Given the description of an element on the screen output the (x, y) to click on. 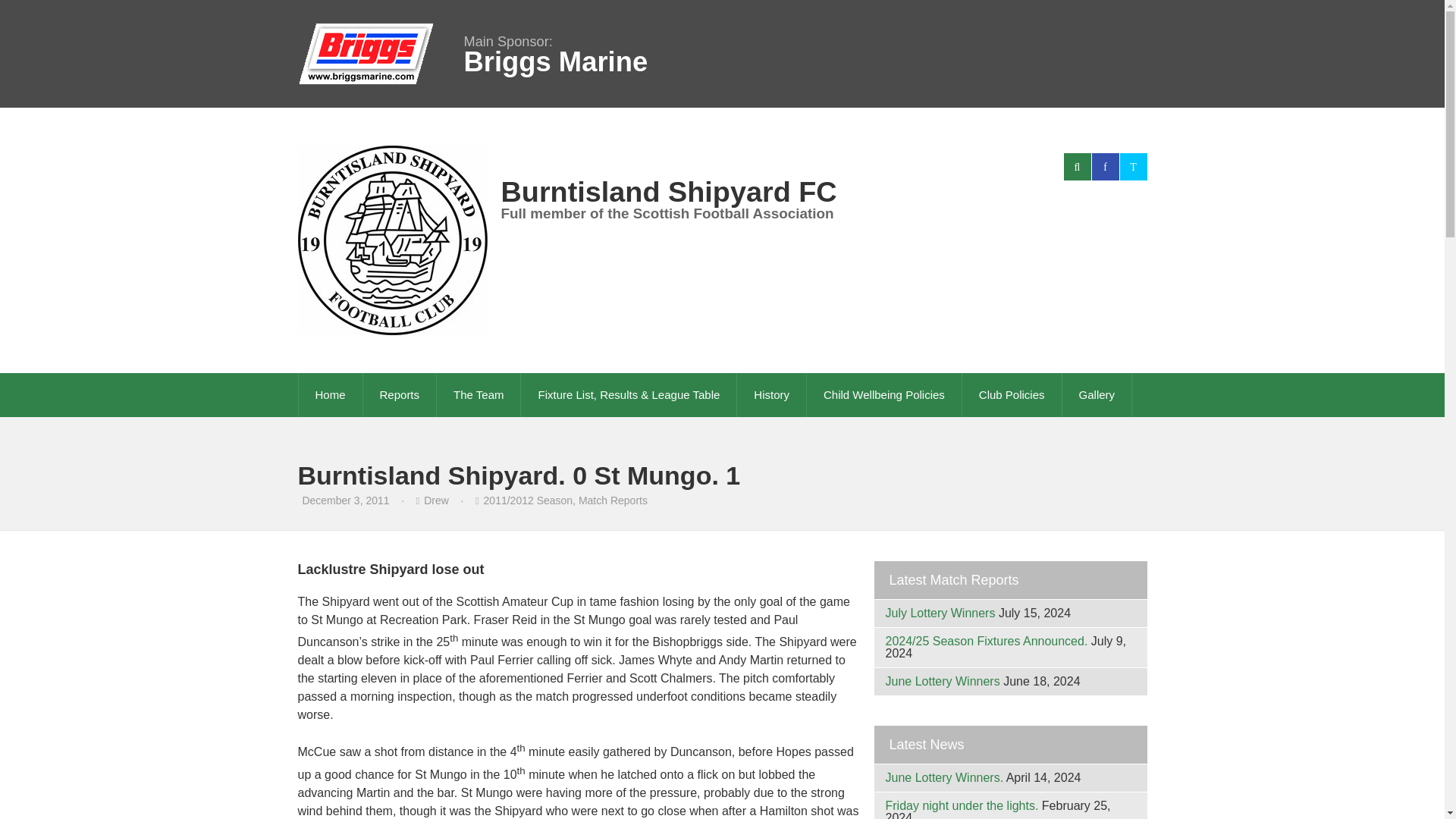
Briggs Marine (555, 62)
Reports (399, 394)
Home (330, 394)
History (771, 394)
Child Wellbeing Policies (883, 394)
The Team (477, 394)
